Given the description of an element on the screen output the (x, y) to click on. 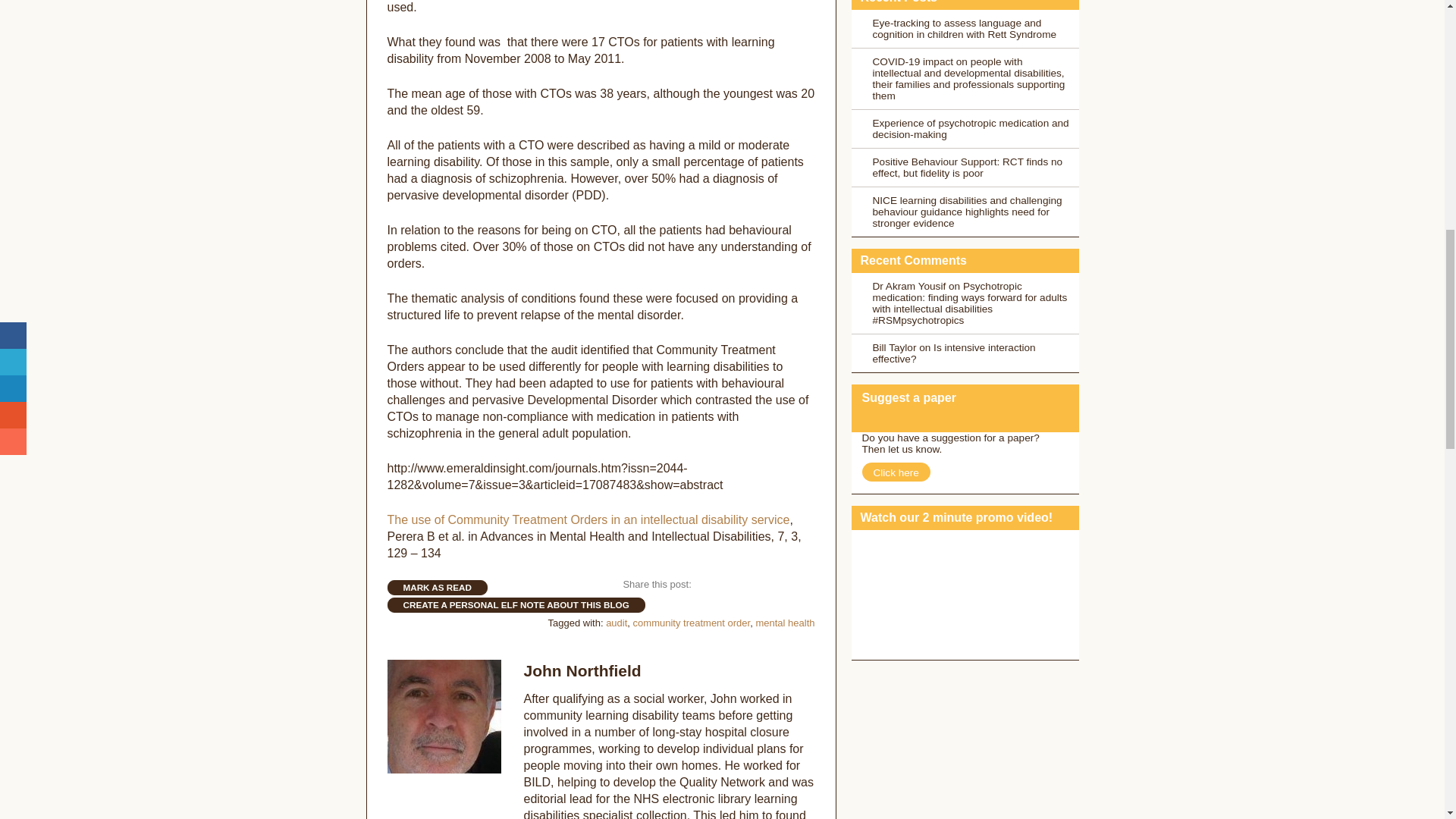
Tweet this on Twitter (730, 584)
John Northfield (581, 670)
Share via email (801, 584)
Share on Facebook (705, 584)
Share on LinkedIn (753, 584)
